Given the description of an element on the screen output the (x, y) to click on. 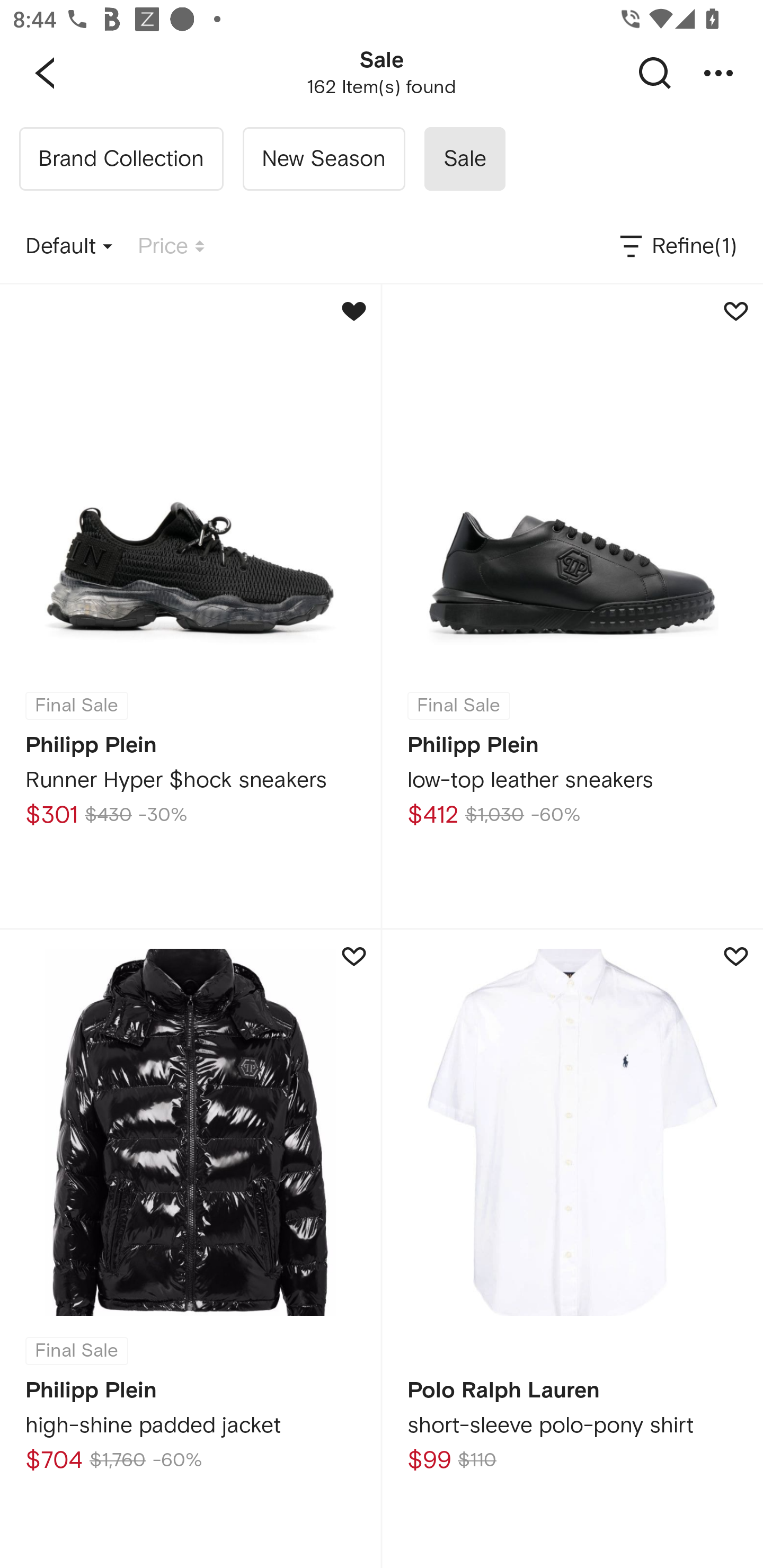
Brand Collection (121, 158)
New Season (323, 158)
Sale (464, 158)
Default (68, 246)
Price (171, 246)
Refine(1) (677, 246)
